Given the description of an element on the screen output the (x, y) to click on. 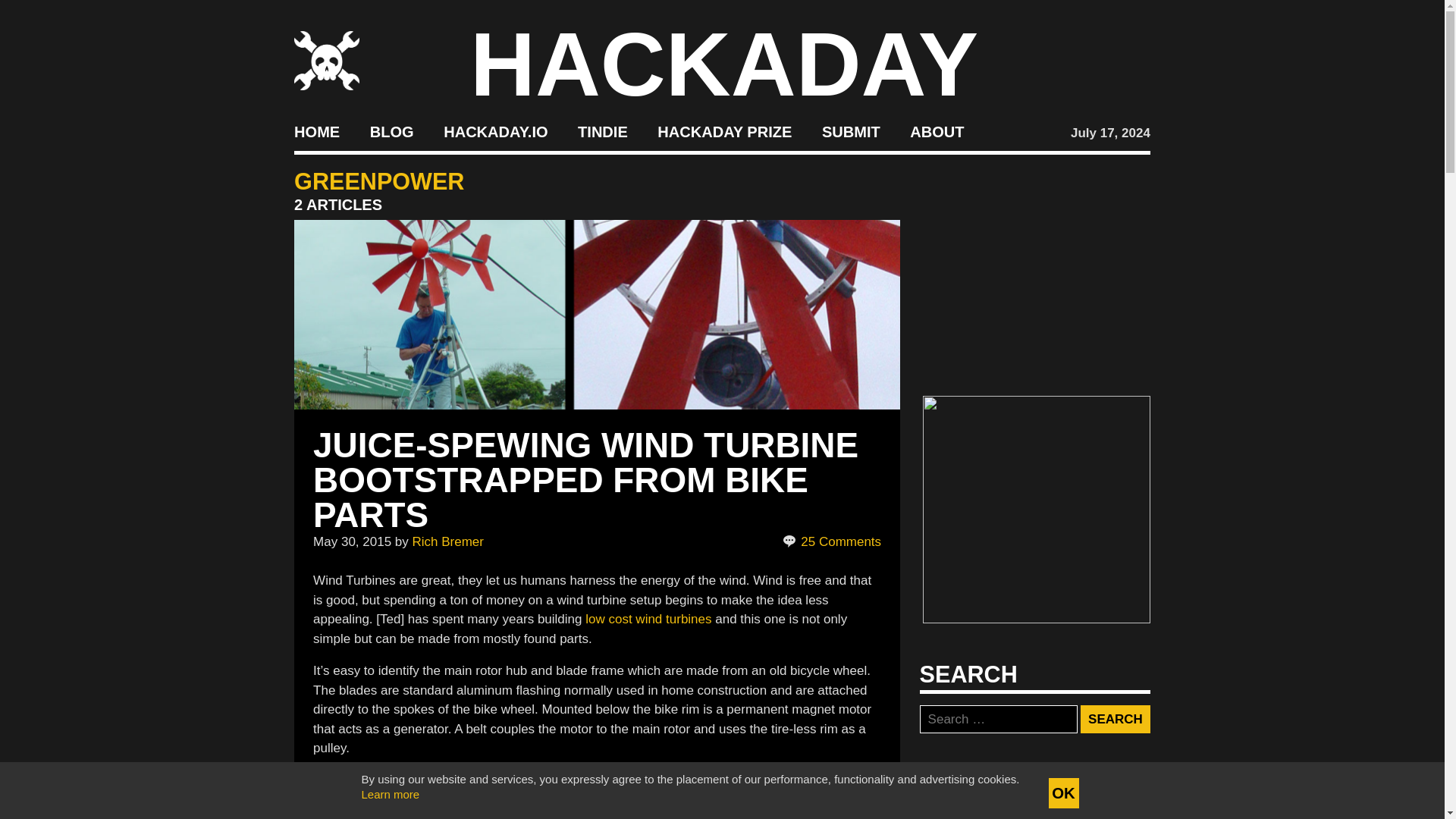
HACKADAY (724, 63)
TINDIE (602, 131)
BLOG (391, 131)
Build Something that Matters (725, 131)
HOME (316, 131)
HACKADAY.IO (495, 131)
May 30, 2015 (352, 541)
25 Comments (832, 542)
Search (1115, 719)
ABOUT (936, 131)
Rich Bremer (447, 541)
HACKADAY PRIZE (725, 131)
low cost wind turbines (648, 618)
JUICE-SPEWING WIND TURBINE BOOTSTRAPPED FROM BIKE PARTS (586, 479)
